Given the description of an element on the screen output the (x, y) to click on. 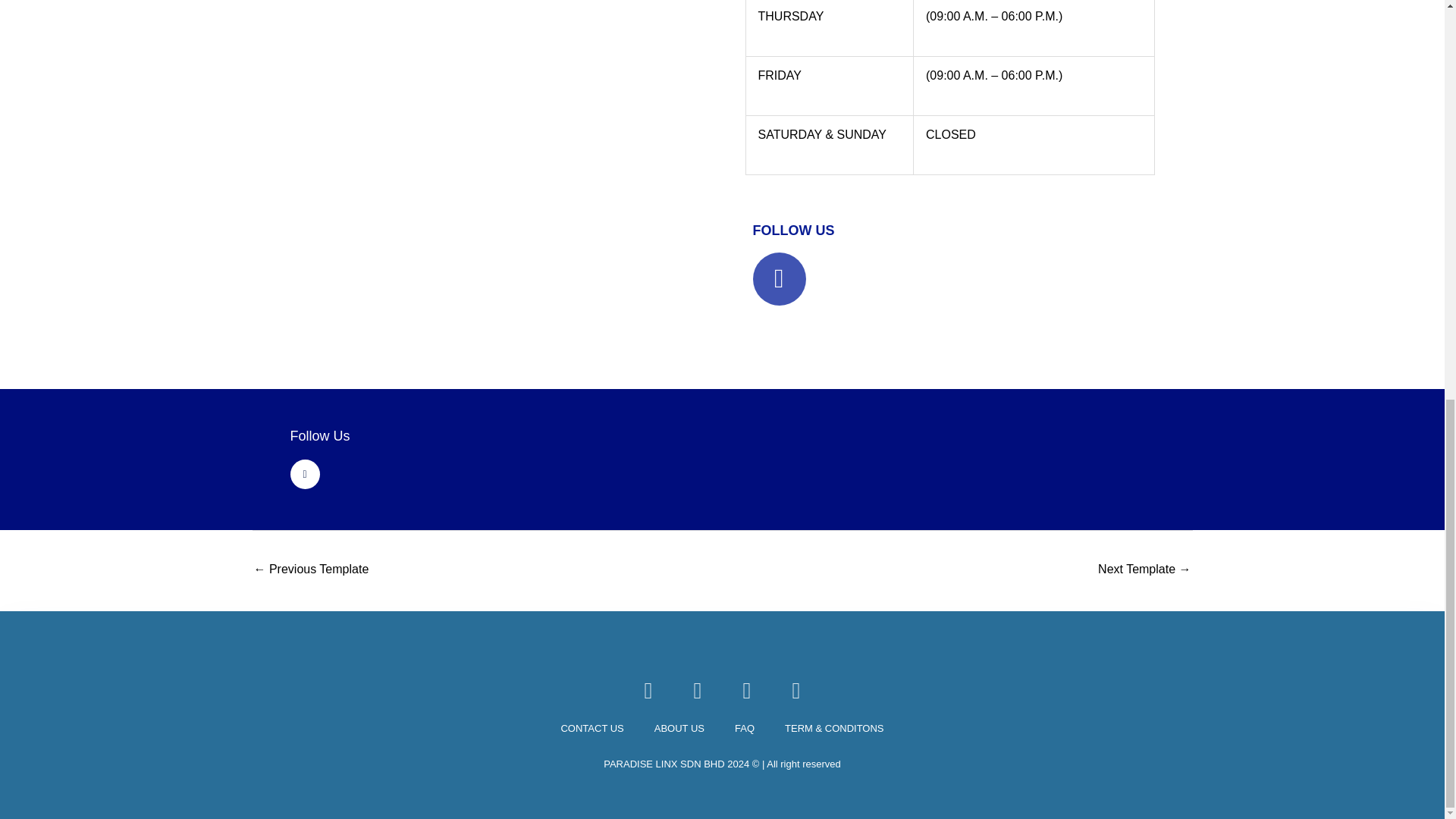
Facebook-f (648, 690)
community program page (1144, 570)
EDIT - FAQ (310, 570)
CONTACT US (591, 728)
Phone (697, 690)
FAQ (744, 728)
Whatsapp (746, 690)
Facebook-f (778, 278)
ABOUT US (679, 728)
Facebook-f (303, 473)
